Given the description of an element on the screen output the (x, y) to click on. 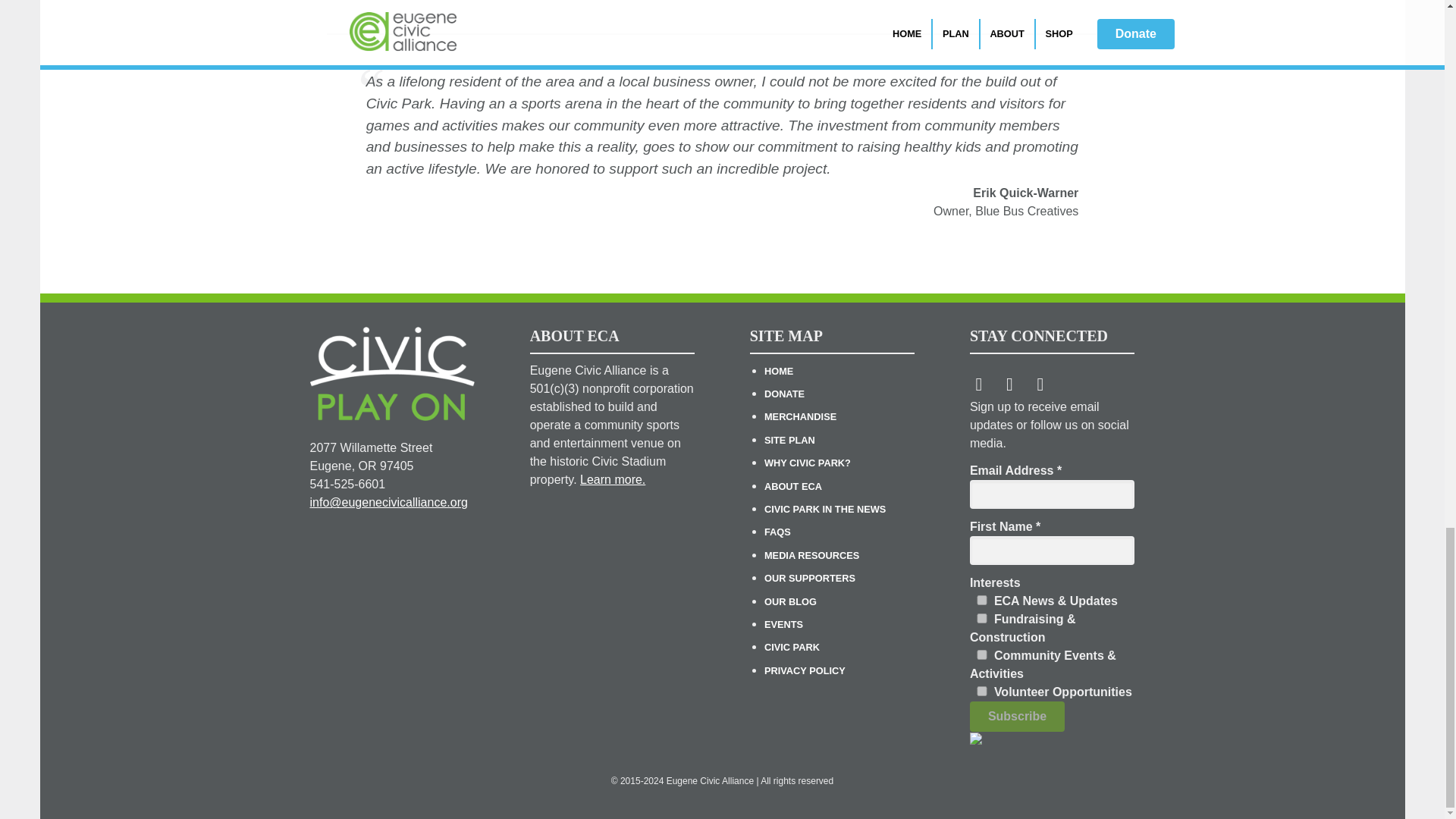
OUR BLOG (790, 601)
OUR SUPPORTERS (810, 577)
EVENTS (783, 624)
Learn more. (612, 479)
WHY CIVIC PARK? (807, 462)
ABOUT ECA (793, 486)
8 (981, 691)
HOME (778, 370)
CIVIC PARK (791, 646)
Subscribe (1016, 716)
